Given the description of an element on the screen output the (x, y) to click on. 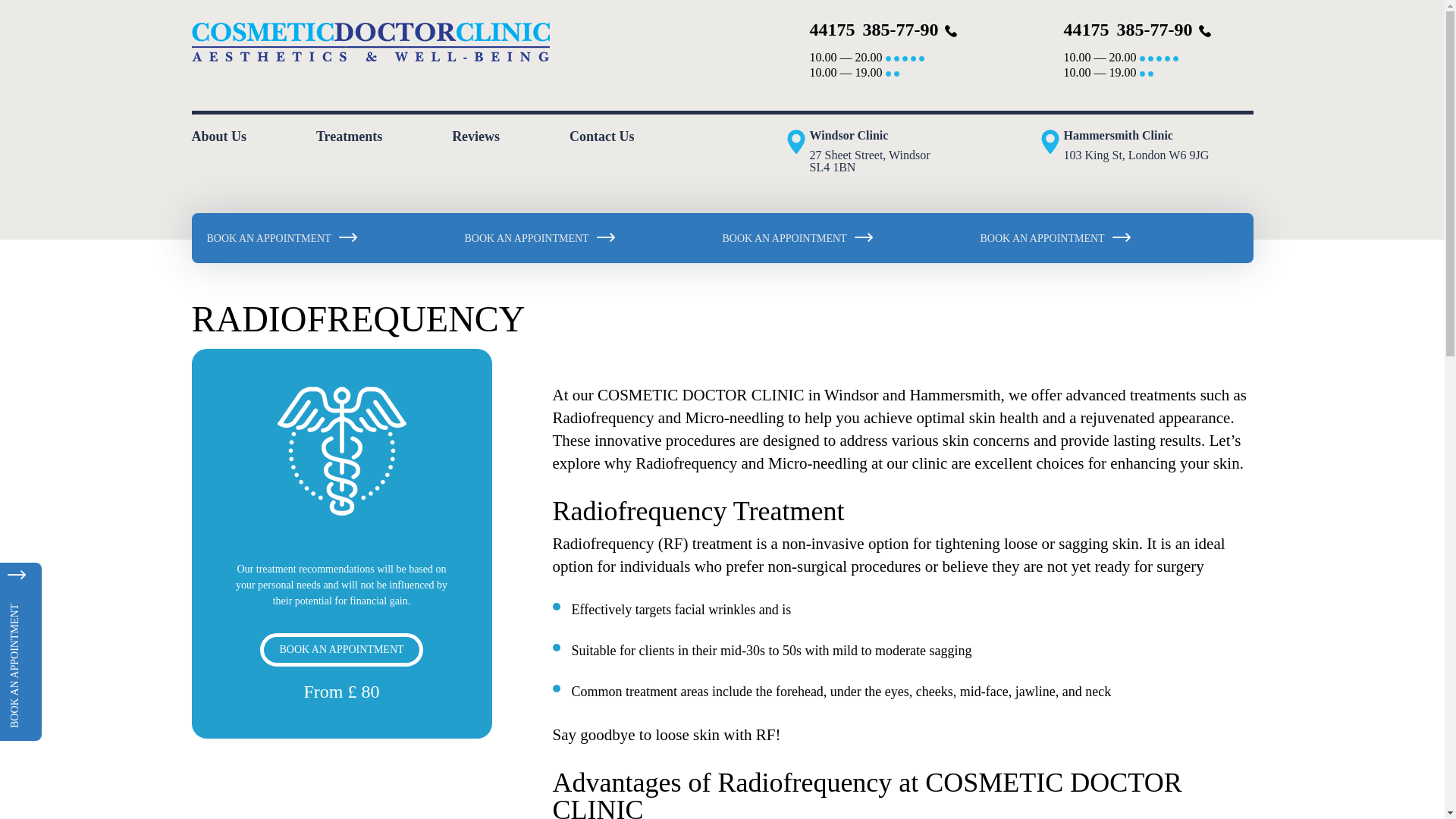
About Us (218, 136)
Reviews (475, 136)
44175385-77-90 (1127, 31)
BOOK AN APPOINTMENT (341, 649)
44175385-77-90 (874, 31)
Contact Us (601, 136)
Treatments (348, 136)
